Given the description of an element on the screen output the (x, y) to click on. 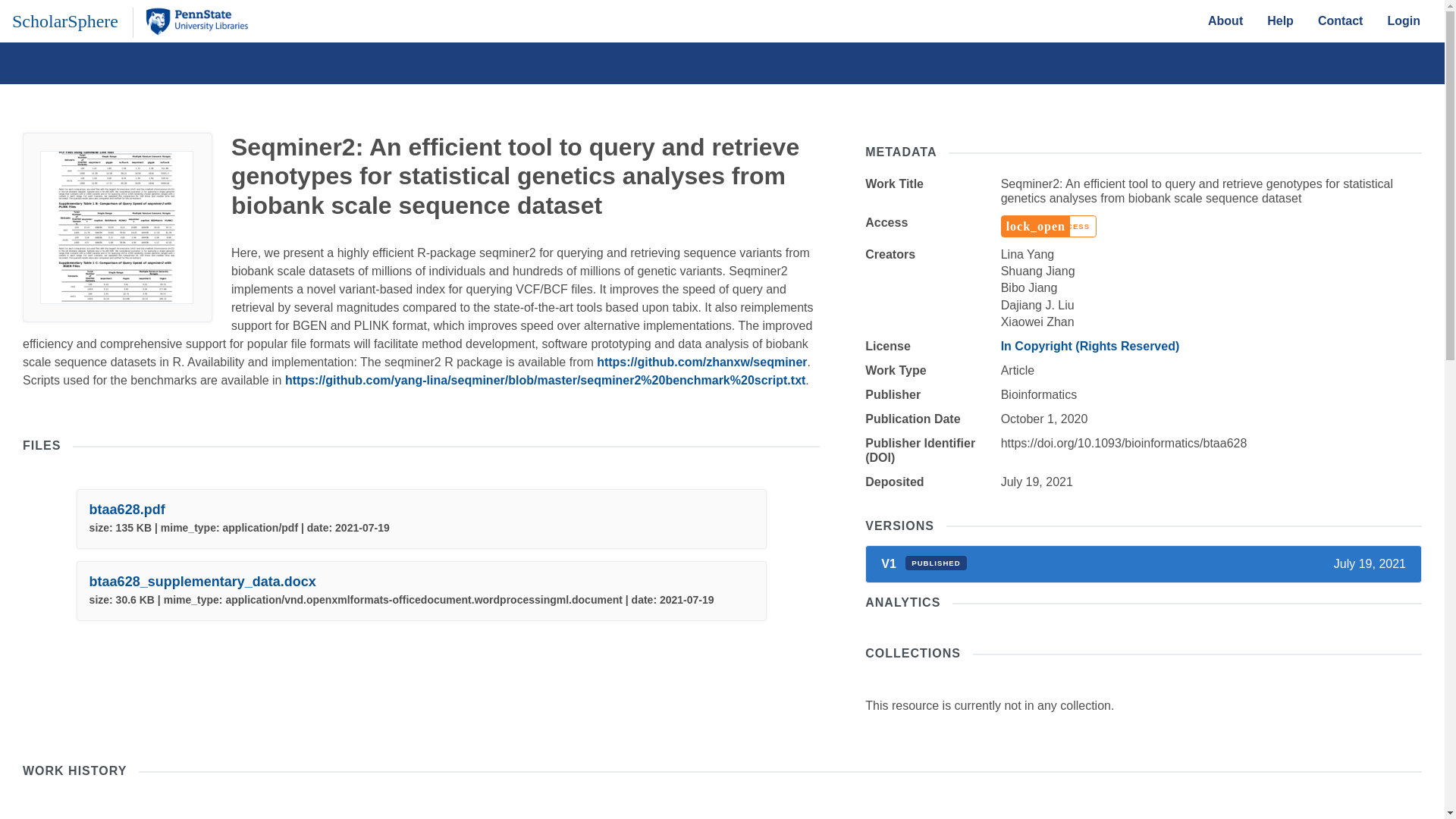
Download btaa628.pdf (126, 509)
Contact (1340, 20)
ScholarSphere (64, 20)
Login (1403, 20)
Help (1280, 20)
About (1225, 20)
btaa628.pdf (126, 509)
V1 PUBLISHED (923, 563)
